Given the description of an element on the screen output the (x, y) to click on. 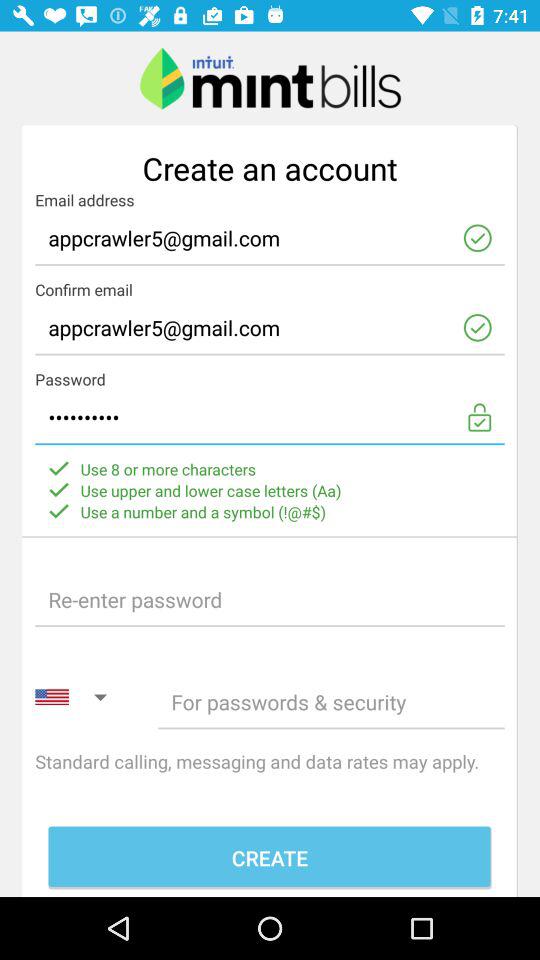
for passwords and security (331, 701)
